Given the description of an element on the screen output the (x, y) to click on. 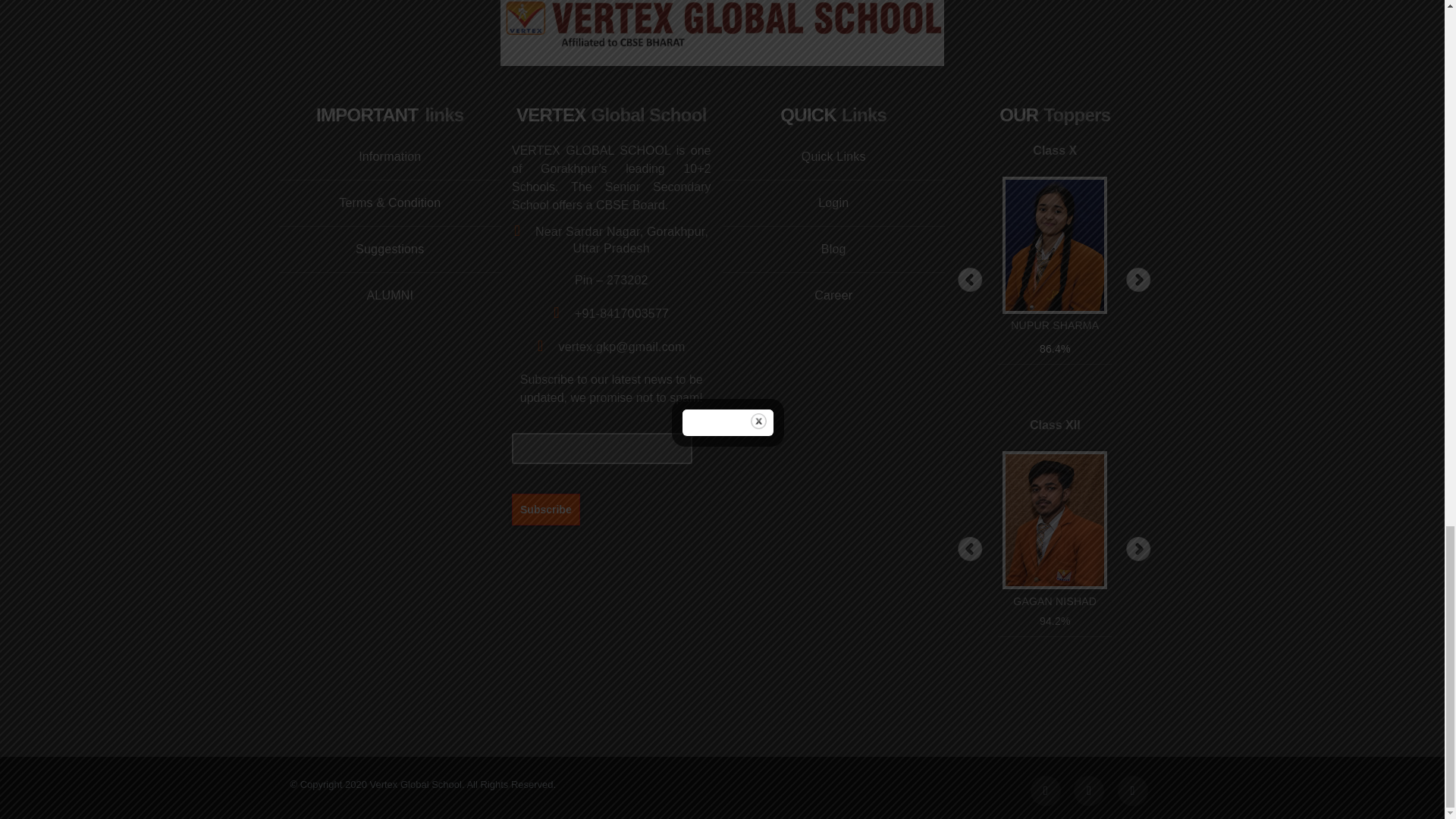
Subscribe (545, 508)
